Given the description of an element on the screen output the (x, y) to click on. 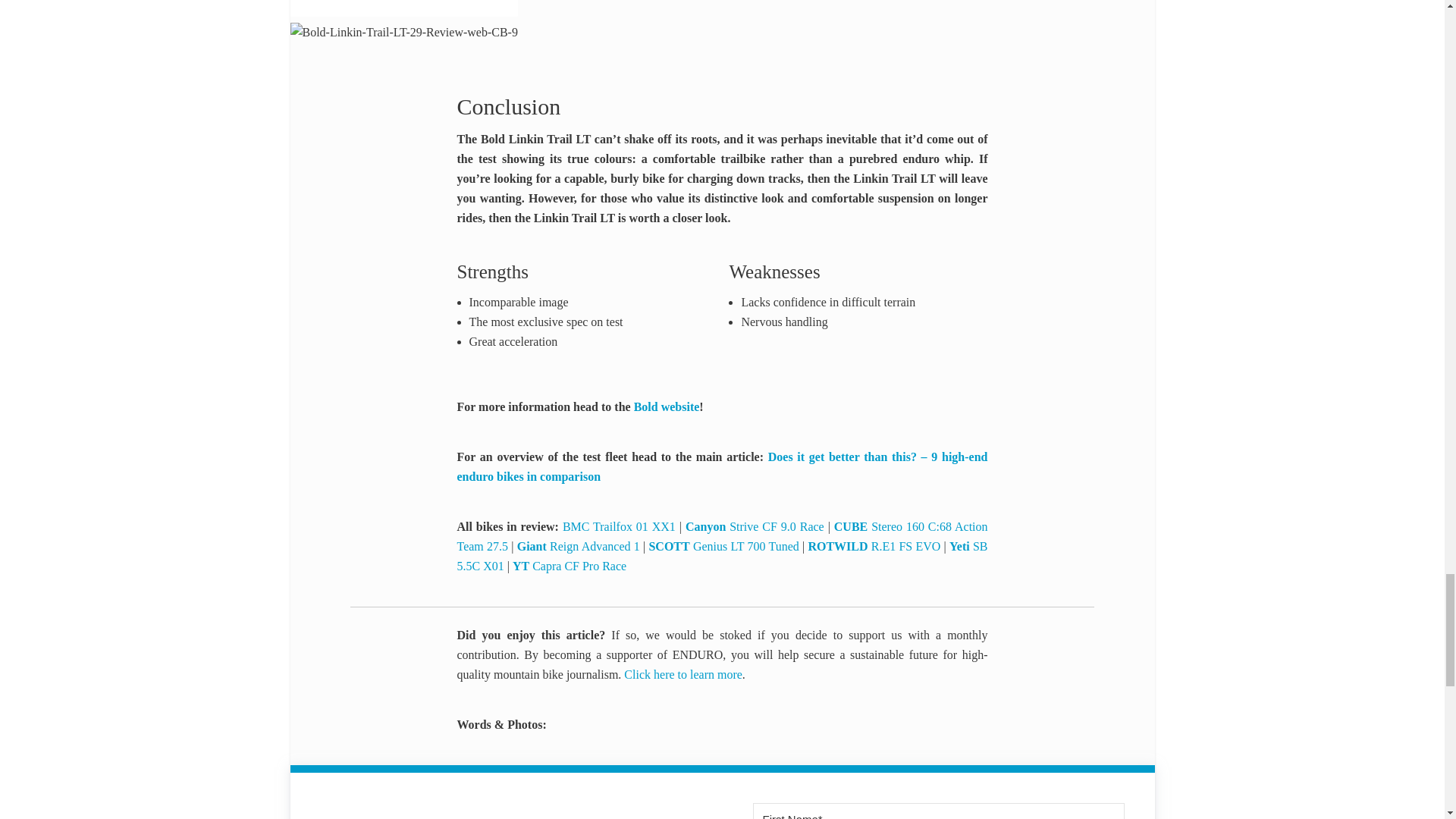
SCOTT Genius LT 700 Tuned (722, 545)
YT Capra CF Pro Race (569, 565)
BMC Trailfox 01 XX1 (618, 526)
ROTWILD R.E1 FS EVO (874, 545)
Click here to learn more (683, 674)
Bold website (666, 406)
Yeti SB 5.5C X01 (722, 555)
CUBE Stereo 160 C:68 Action Team 27.5 (722, 536)
Canyon Strive CF 9.0 Race (754, 526)
Giant Reign Advanced 1 (578, 545)
